Given the description of an element on the screen output the (x, y) to click on. 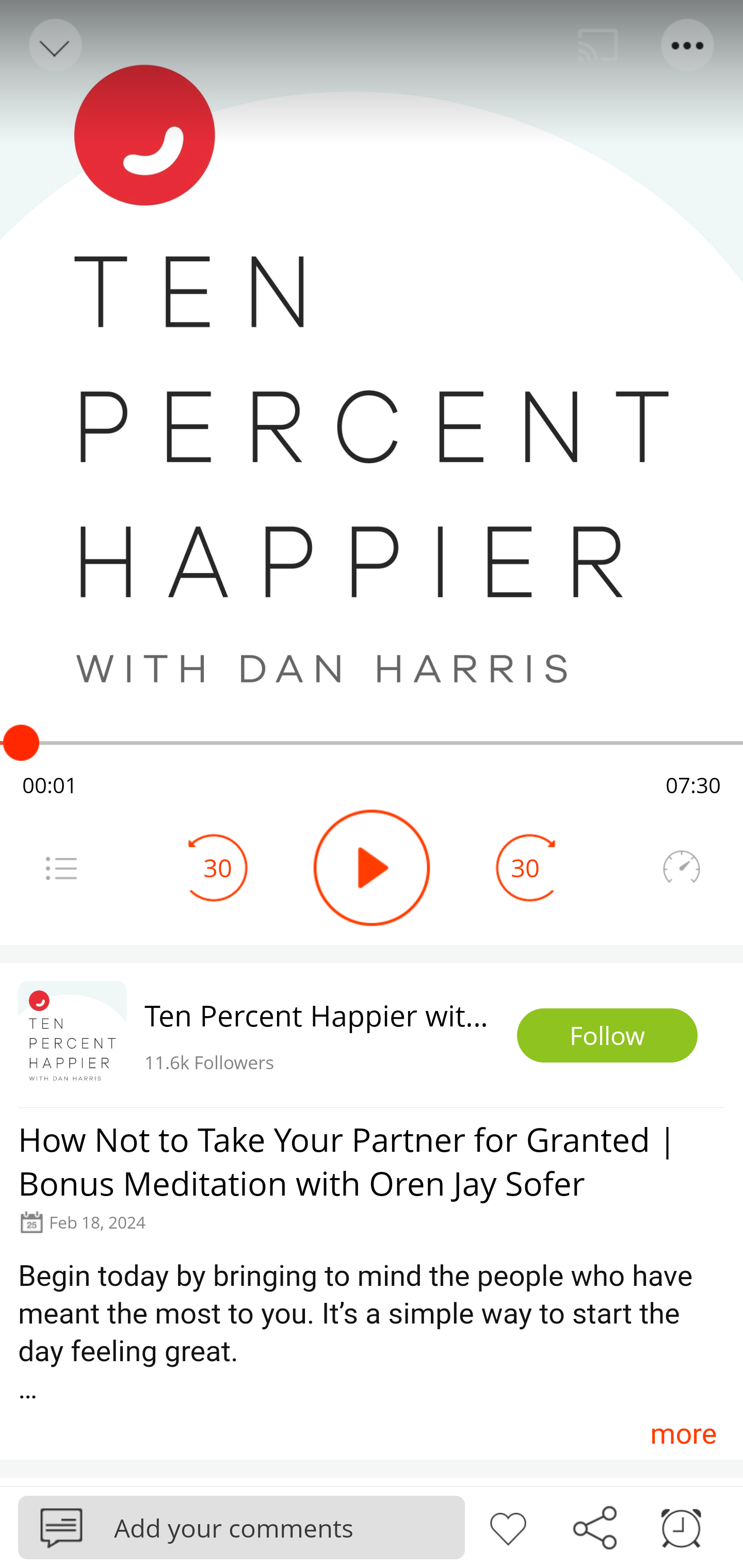
Back (53, 45)
Cast. Disconnected (597, 45)
Menu (688, 45)
Play (371, 867)
30 Seek Backward (217, 867)
30 Seek Forward (525, 867)
Menu (60, 867)
Speedometer (681, 867)
Follow (607, 1035)
more (682, 1432)
Like (508, 1526)
Share (594, 1526)
Sleep timer (681, 1526)
Podbean Add your comments (241, 1526)
